Given the description of an element on the screen output the (x, y) to click on. 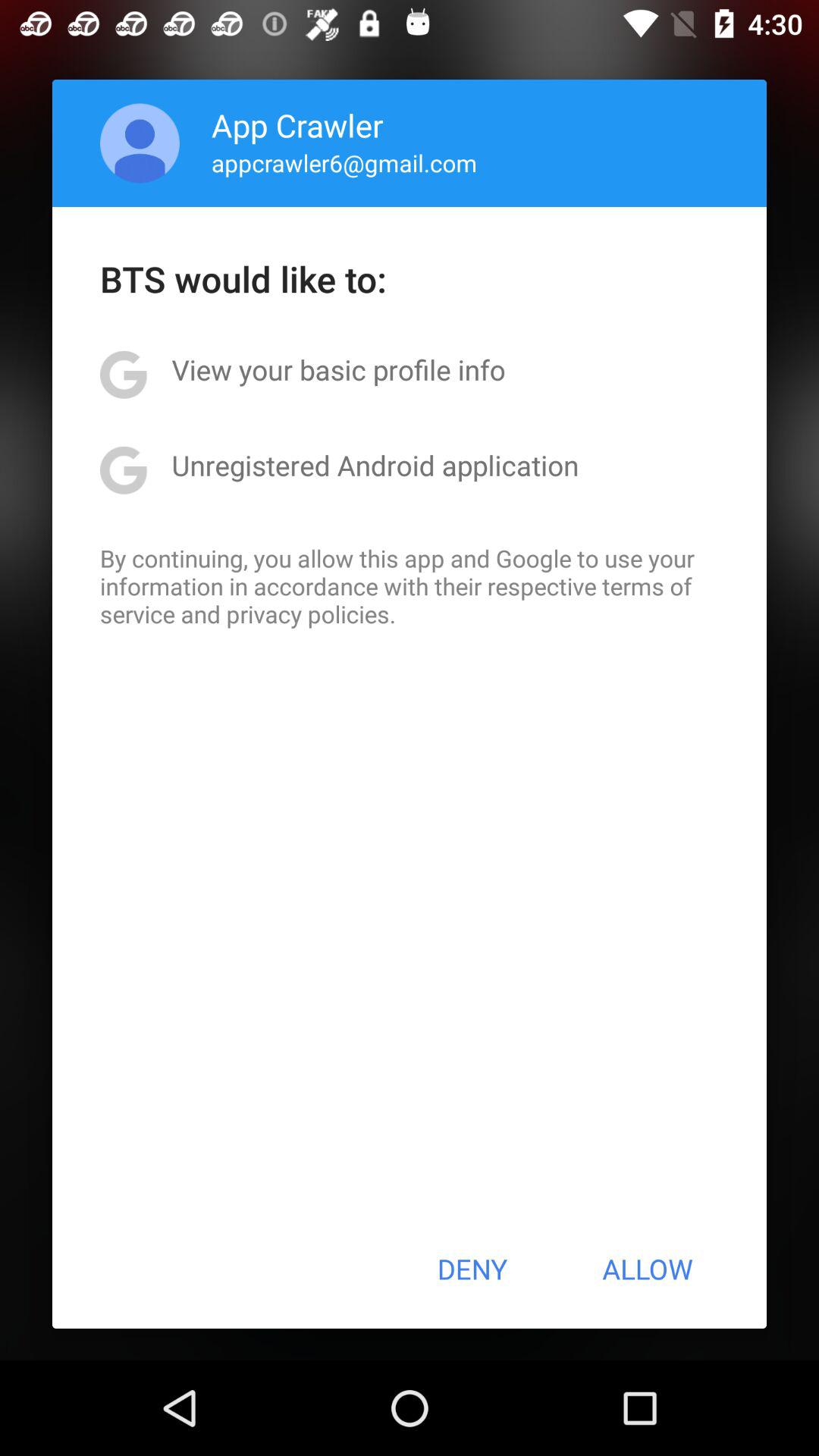
launch icon below app crawler item (344, 162)
